Given the description of an element on the screen output the (x, y) to click on. 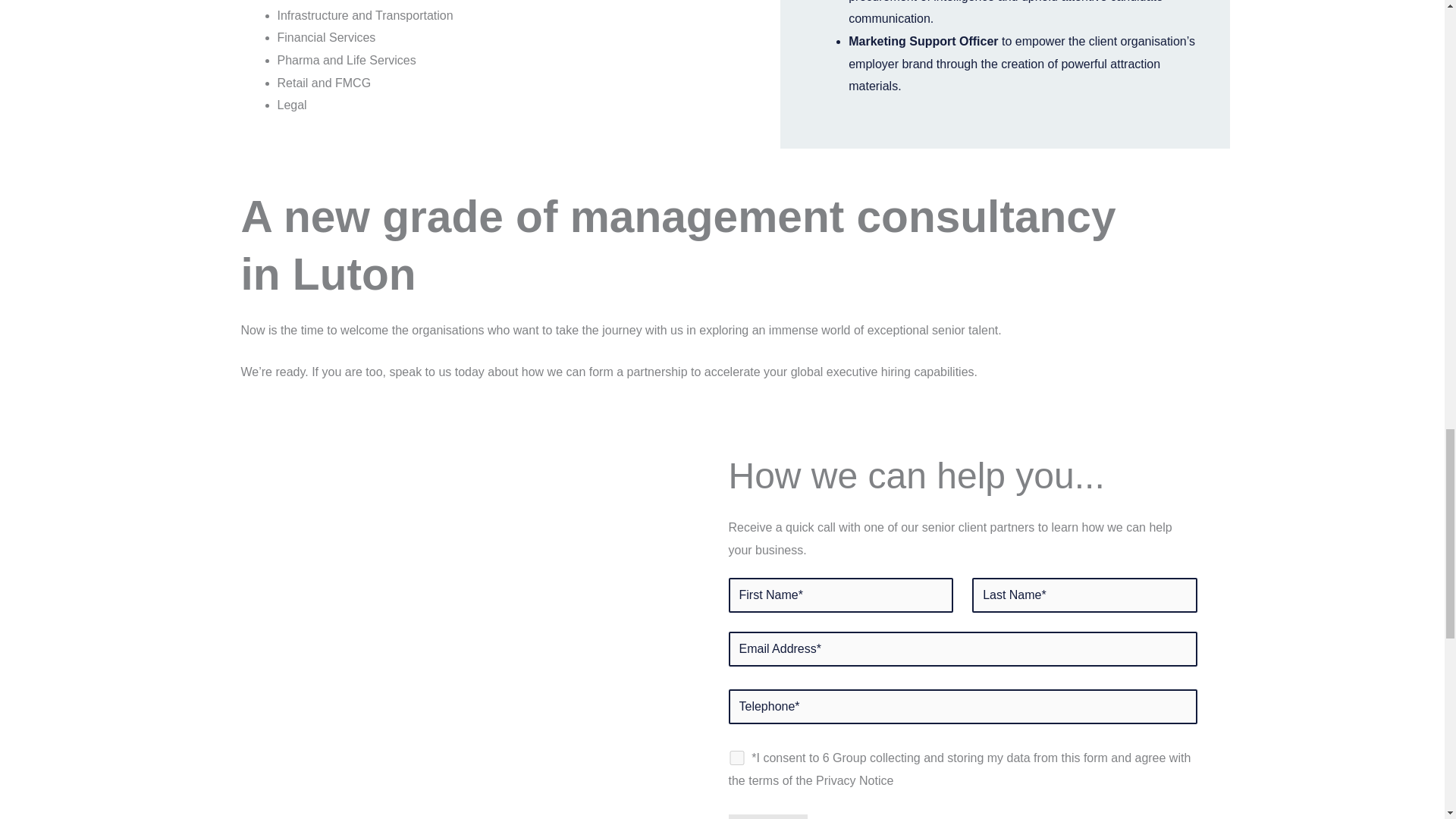
1 (736, 757)
Send (767, 816)
Send (767, 816)
